Given the description of an element on the screen output the (x, y) to click on. 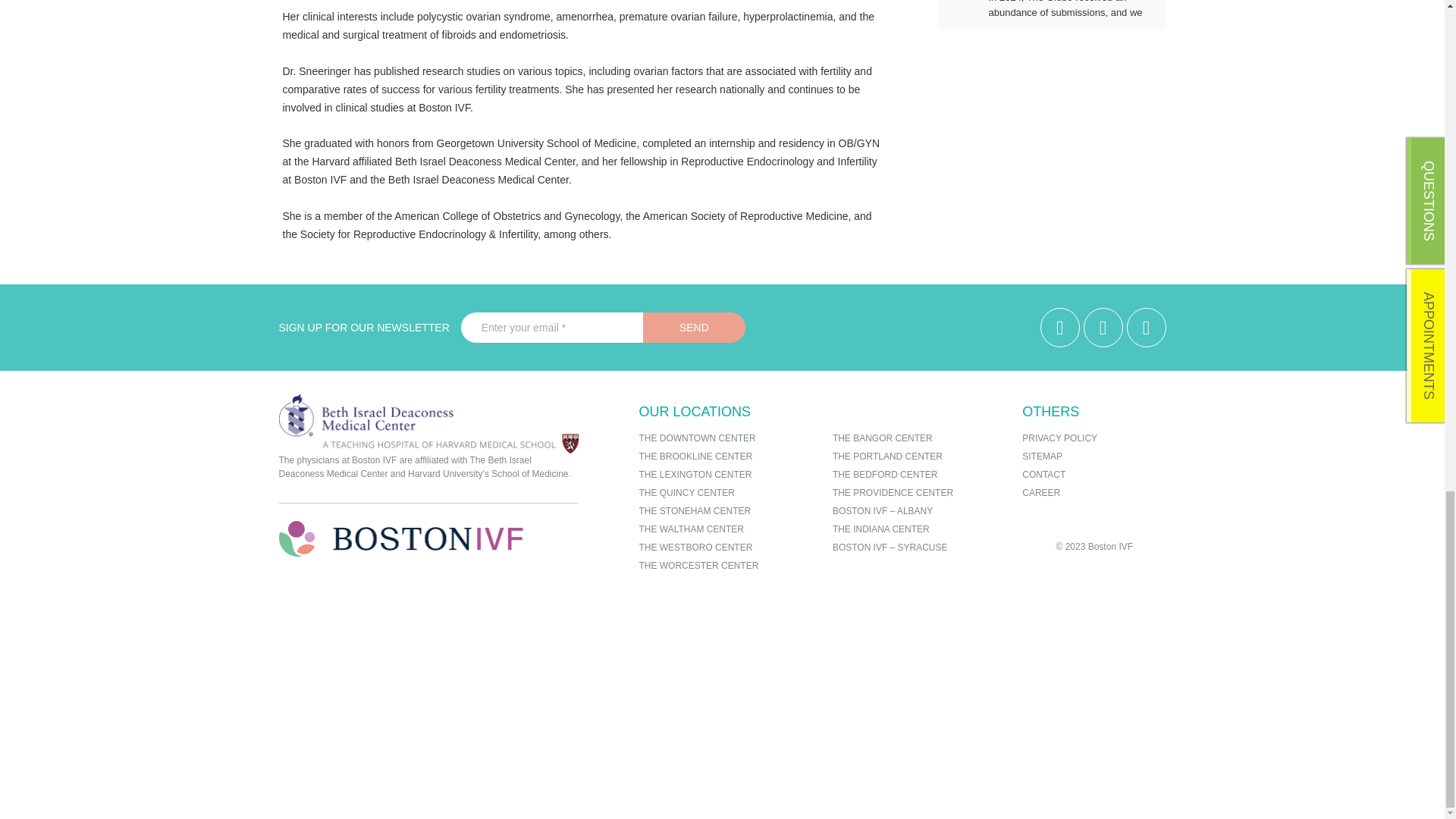
Boston-IVF-logo2.png (400, 538)
Layer-1921.png (428, 423)
Send (694, 327)
